Given the description of an element on the screen output the (x, y) to click on. 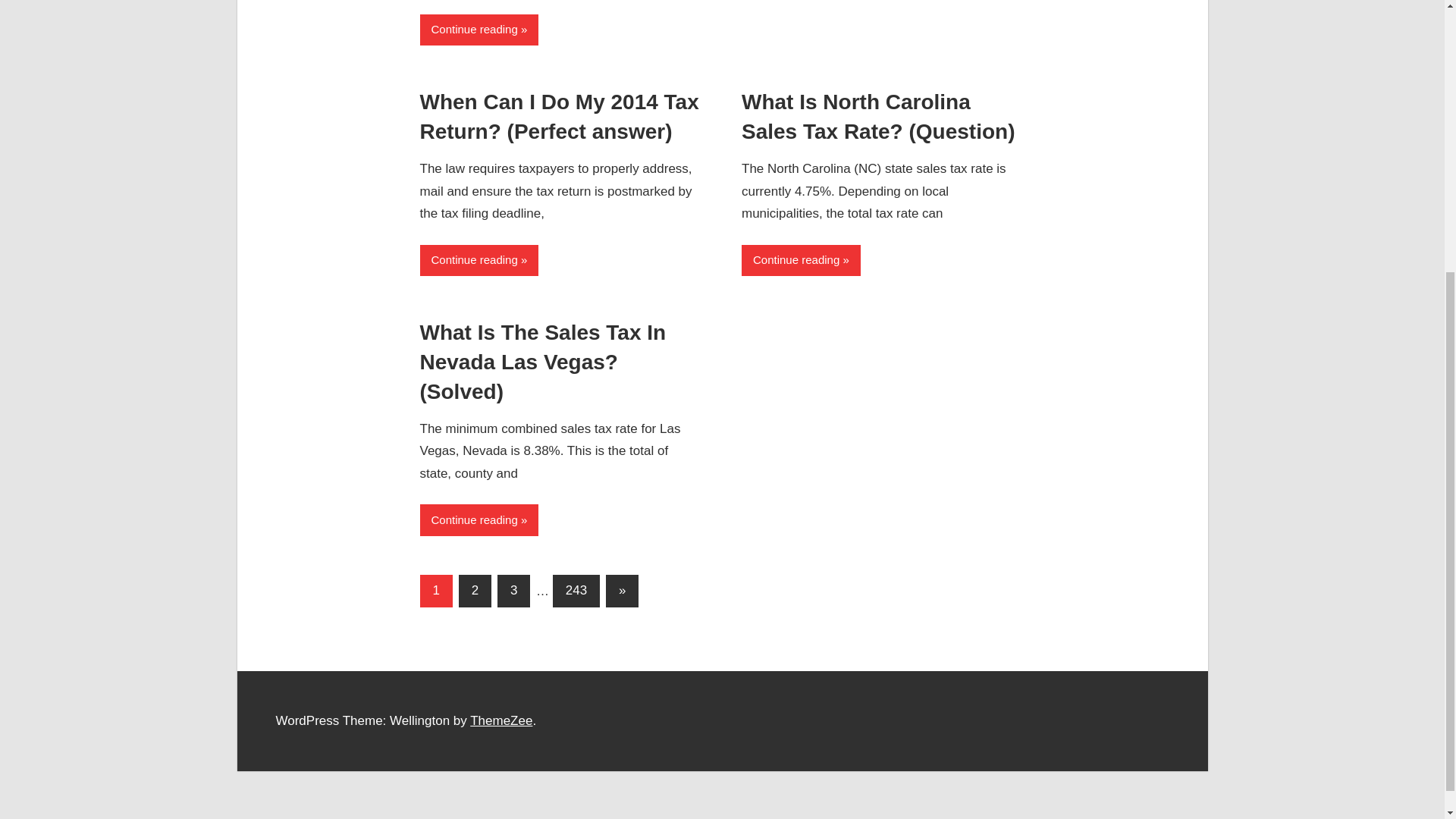
2 (475, 590)
3 (513, 590)
243 (576, 590)
Continue reading (479, 260)
ThemeZee (501, 720)
Continue reading (479, 519)
Continue reading (800, 260)
Continue reading (479, 29)
